Given the description of an element on the screen output the (x, y) to click on. 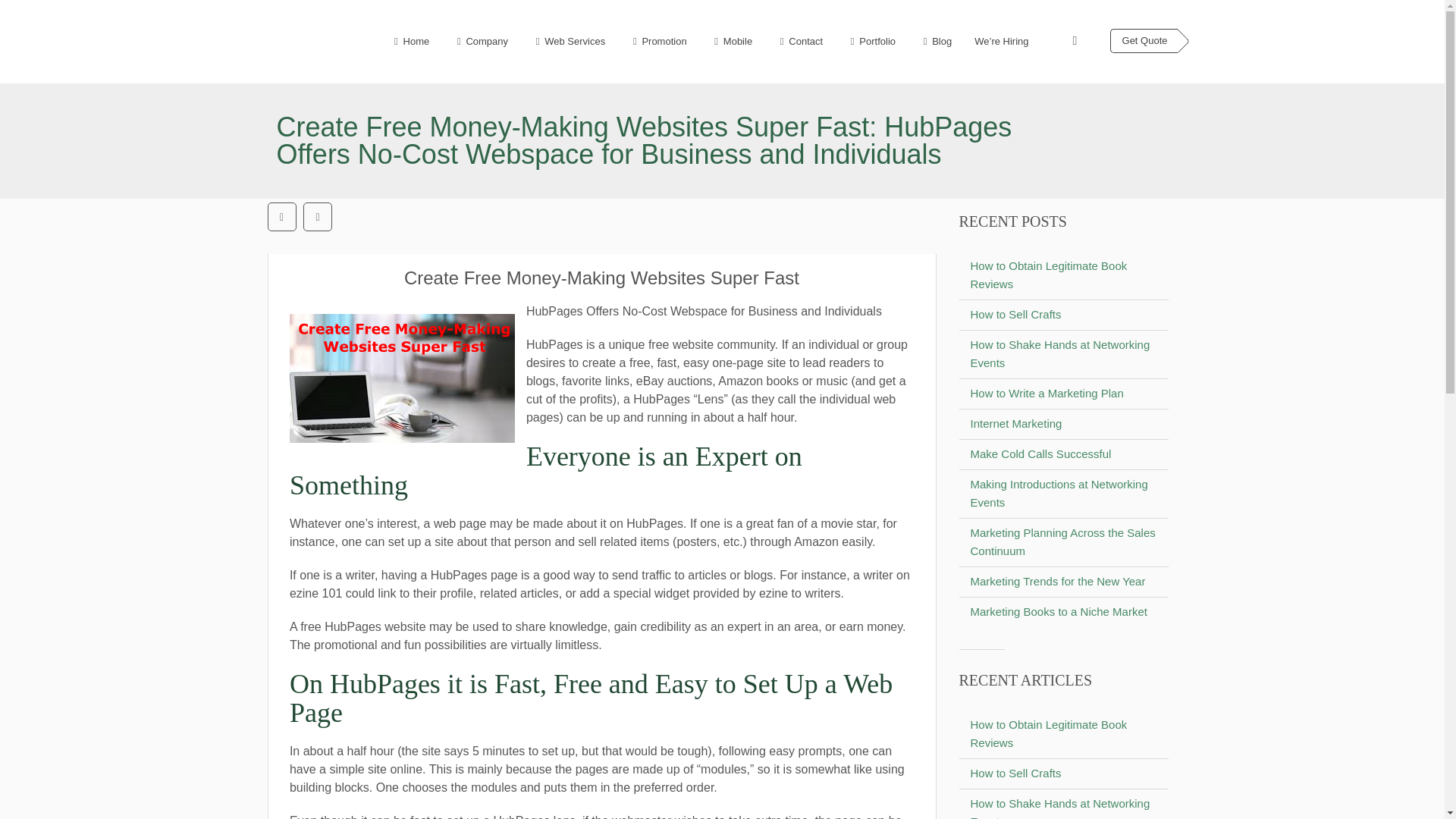
Home (409, 41)
Promotion (656, 41)
Company (480, 41)
Mobile (730, 41)
Get Quote (1143, 40)
Web Services (567, 41)
